Given the description of an element on the screen output the (x, y) to click on. 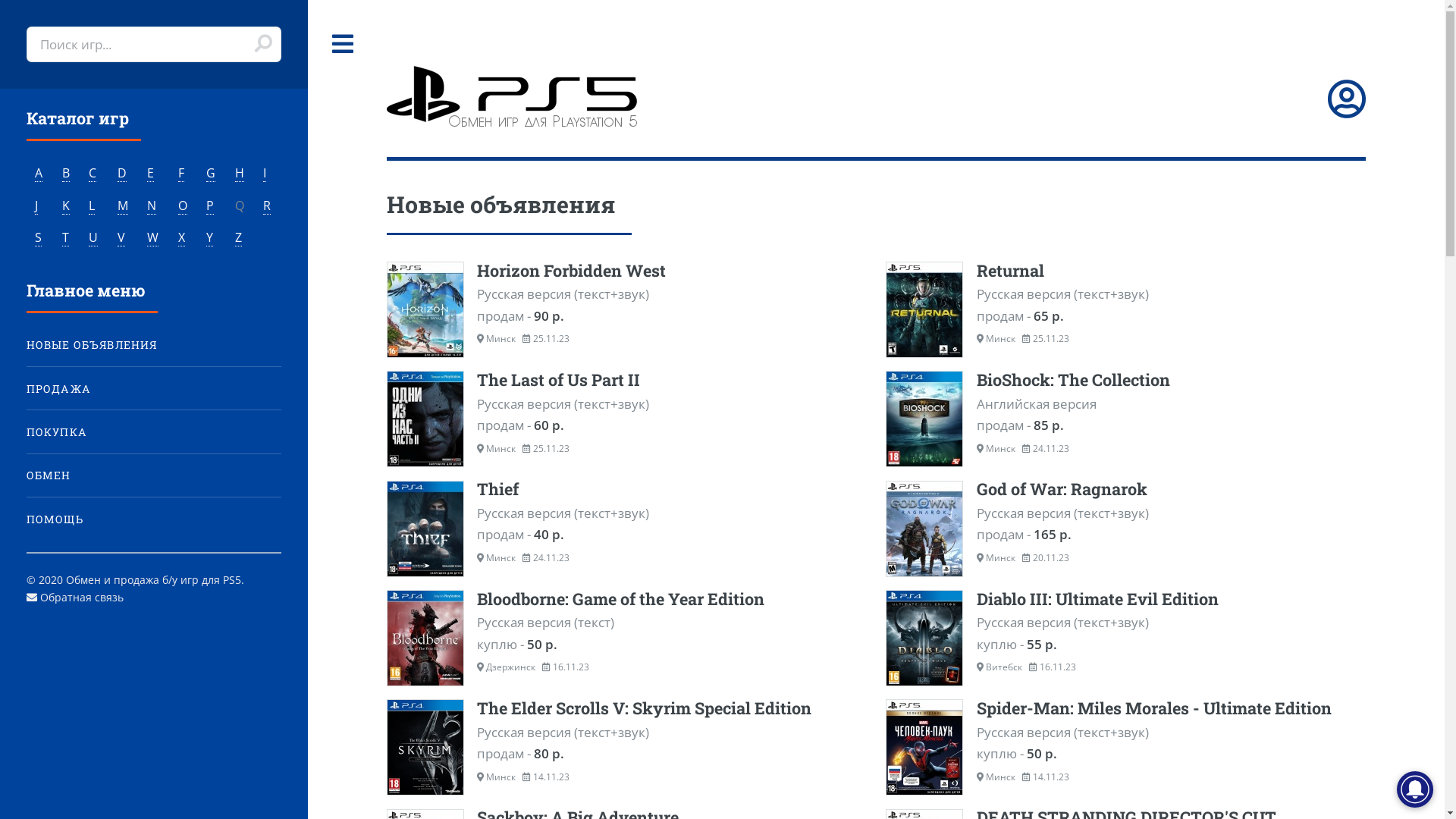
Returnal Element type: text (1125, 281)
Spider-Man: Miles Morales - Ultimate Edition Element type: text (1125, 718)
The Last of Us Part II Element type: text (626, 390)
O Element type: text (182, 205)
C Element type: text (92, 173)
K Element type: text (65, 205)
A Element type: text (38, 173)
Bloodborne: Game of the Year Edition Element type: text (626, 609)
BioShock: The Collection Element type: text (1125, 390)
Toggle Element type: text (343, 44)
God of War: Ragnarok Element type: text (1125, 499)
H Element type: text (239, 173)
V Element type: text (121, 237)
N Element type: text (151, 205)
Diablo III: Ultimate Evil Edition Element type: text (1125, 609)
S Element type: text (37, 237)
D Element type: text (121, 173)
I Element type: text (264, 173)
M Element type: text (122, 205)
The Elder Scrolls V: Skyrim Special Edition Element type: text (626, 718)
Thief Element type: text (626, 499)
Y Element type: text (209, 237)
Horizon Forbidden West Element type: text (626, 281)
F Element type: text (181, 173)
X Element type: text (181, 237)
U Element type: text (92, 237)
B Element type: text (65, 173)
G Element type: text (210, 173)
J Element type: text (35, 205)
Z Element type: text (238, 237)
E Element type: text (150, 173)
L Element type: text (91, 205)
P Element type: text (209, 205)
R Element type: text (266, 205)
W Element type: text (152, 237)
T Element type: text (65, 237)
